Given the description of an element on the screen output the (x, y) to click on. 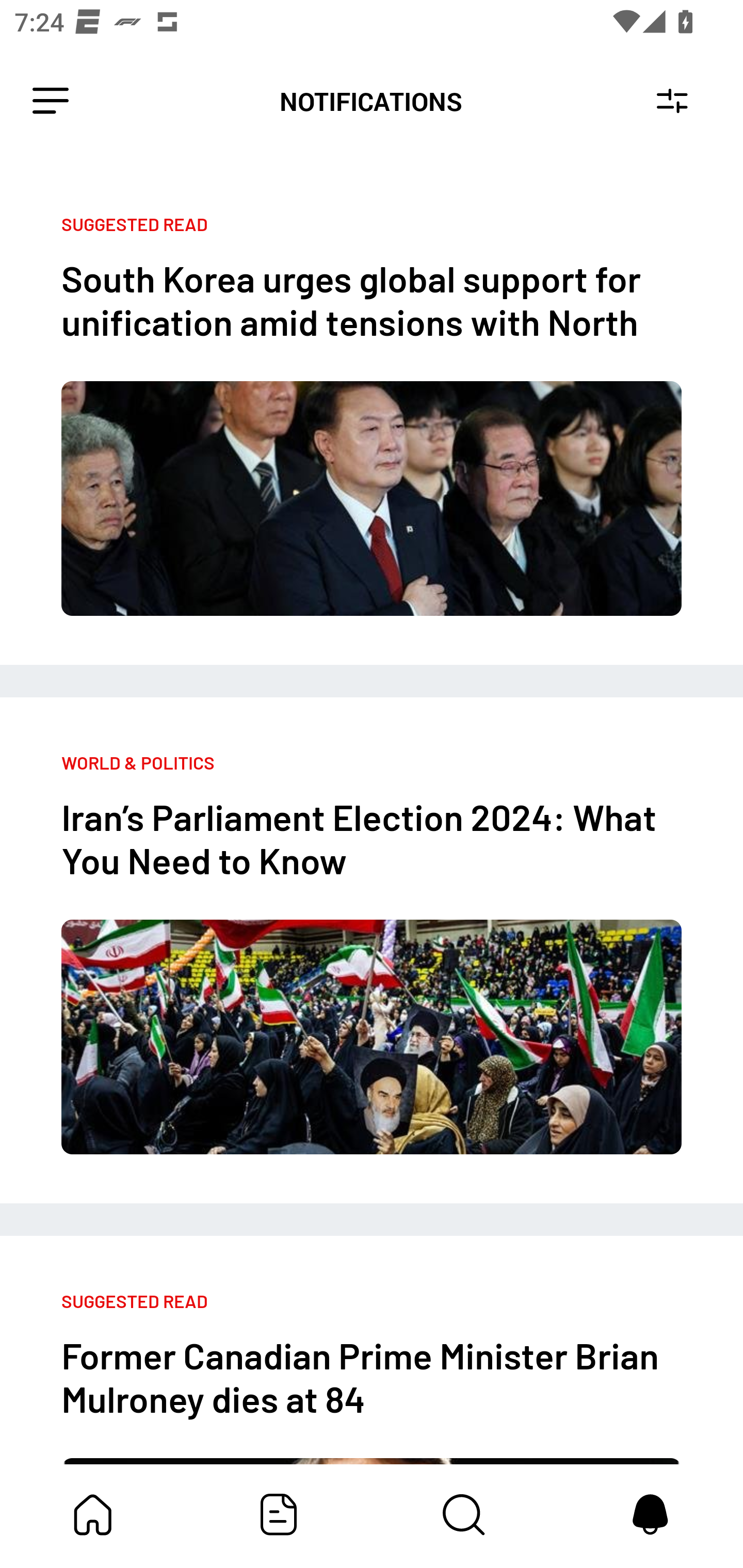
Leading Icon (50, 101)
Notification Settings (672, 101)
My Bundle (92, 1514)
Featured (278, 1514)
Content Store (464, 1514)
